Given the description of an element on the screen output the (x, y) to click on. 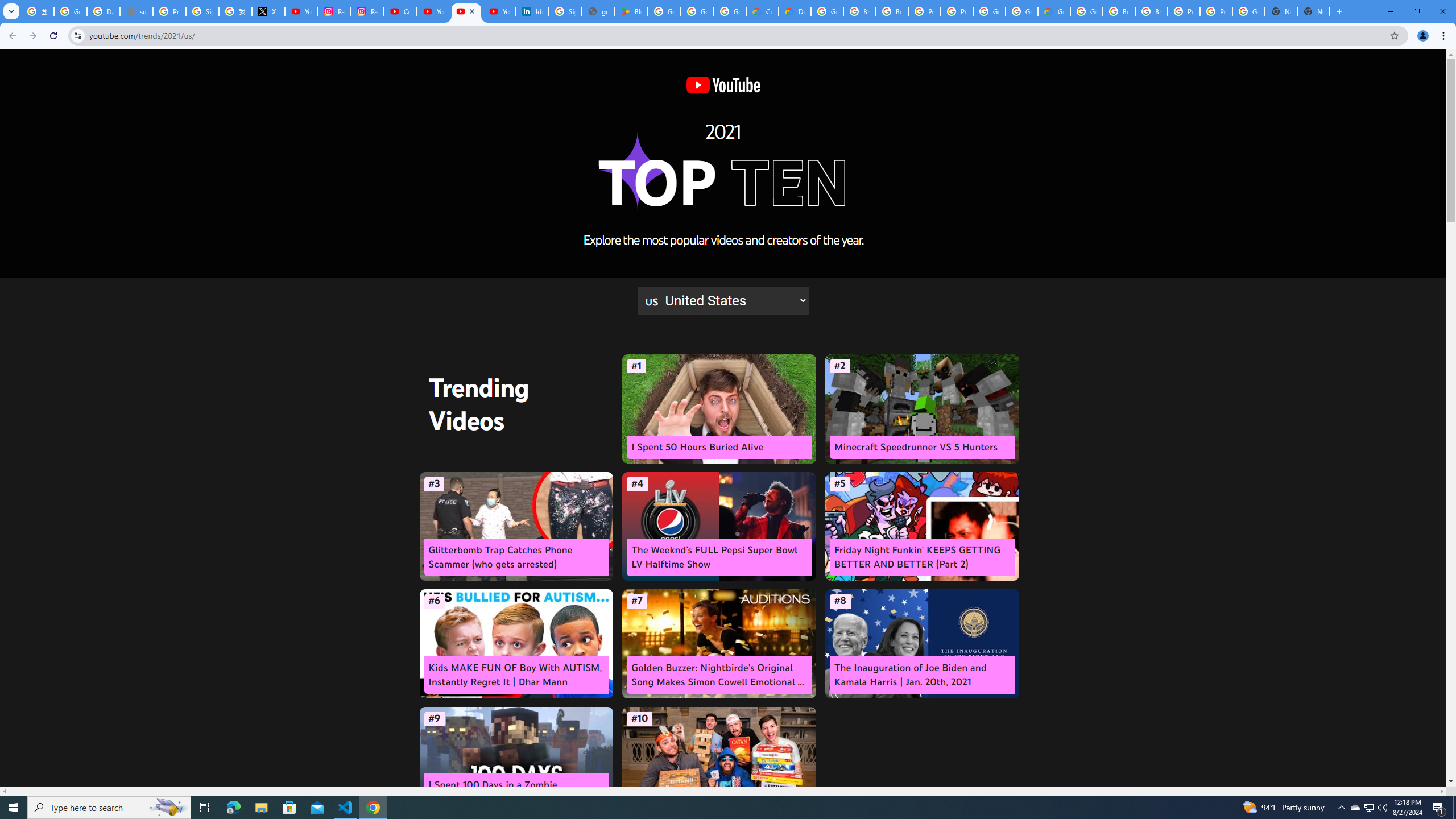
Bluey: Let's Play! - Apps on Google Play (631, 11)
Browse Chrome as a guest - Computer - Google Chrome Help (891, 11)
Google Cloud Platform (827, 11)
#10 Game Night Stereotypes (718, 761)
Sign in - Google Accounts (202, 11)
Google Cloud Platform (1086, 11)
